Given the description of an element on the screen output the (x, y) to click on. 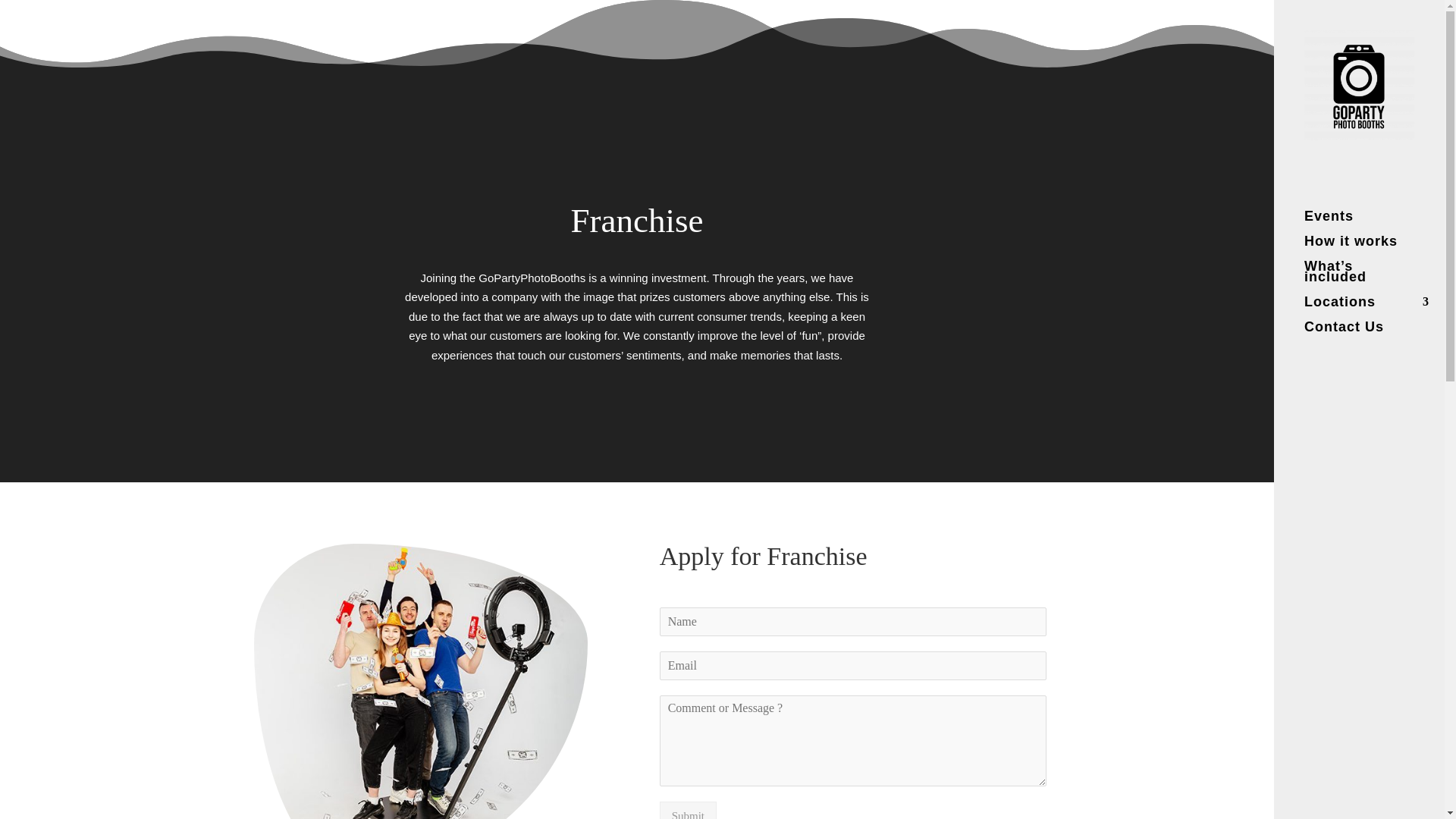
Submit (687, 810)
lol (420, 681)
